Given the description of an element on the screen output the (x, y) to click on. 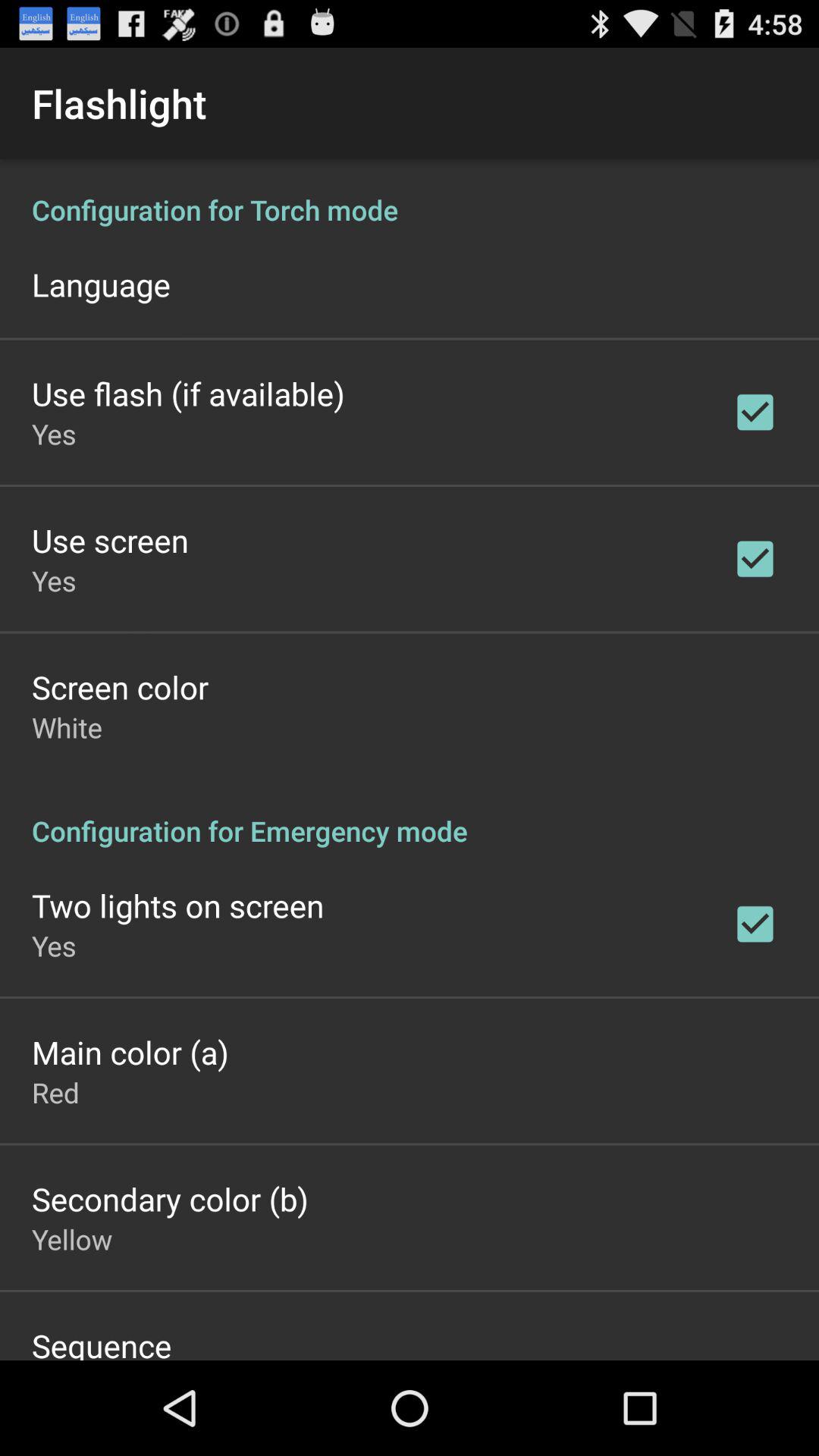
open the app below yellow item (101, 1342)
